Given the description of an element on the screen output the (x, y) to click on. 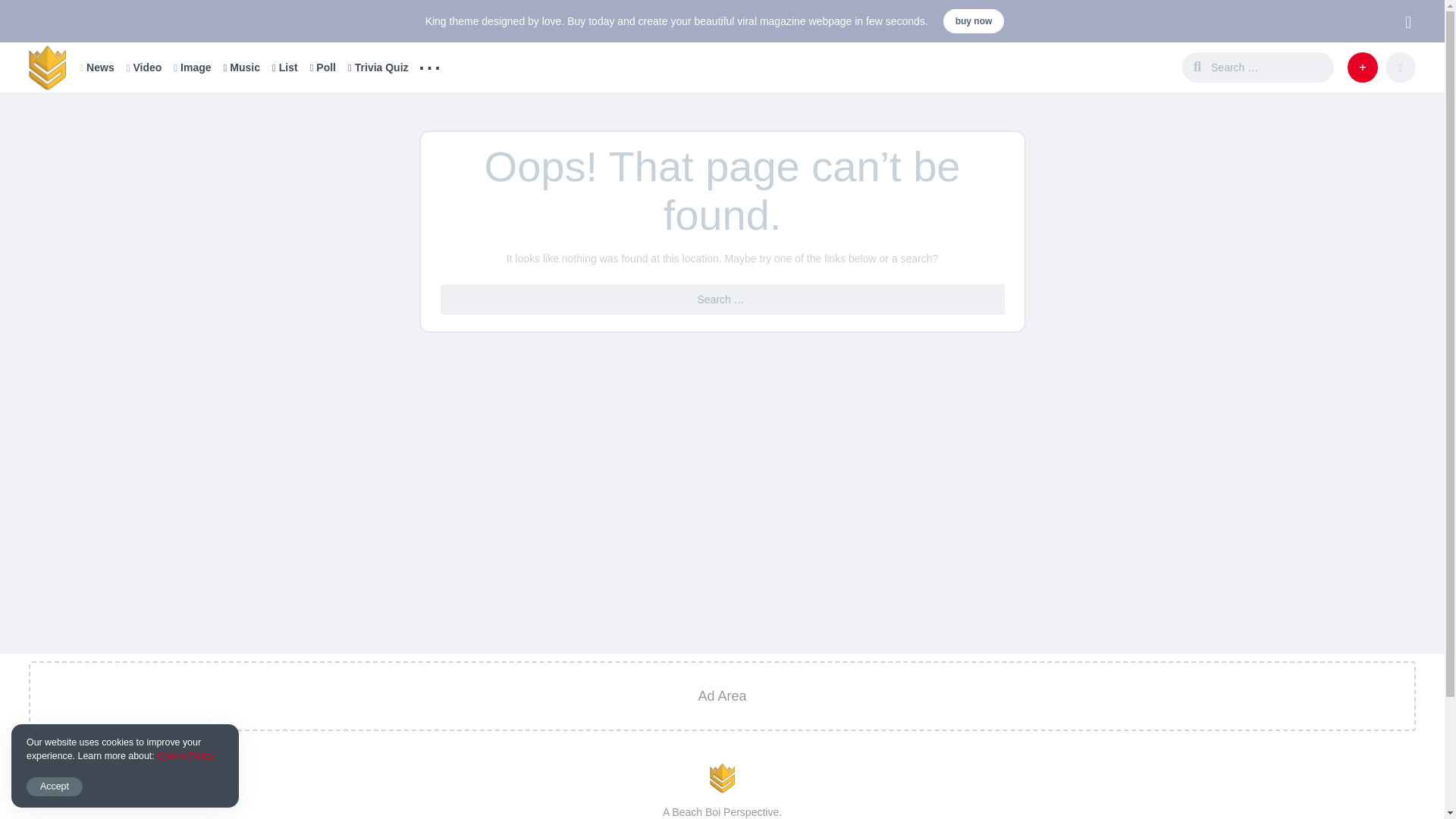
News (96, 67)
buy now (973, 21)
Video (144, 67)
Poll (323, 67)
Music (241, 67)
List (285, 67)
Trivia Quiz (378, 67)
Search for: (1269, 67)
Image (191, 67)
